Given the description of an element on the screen output the (x, y) to click on. 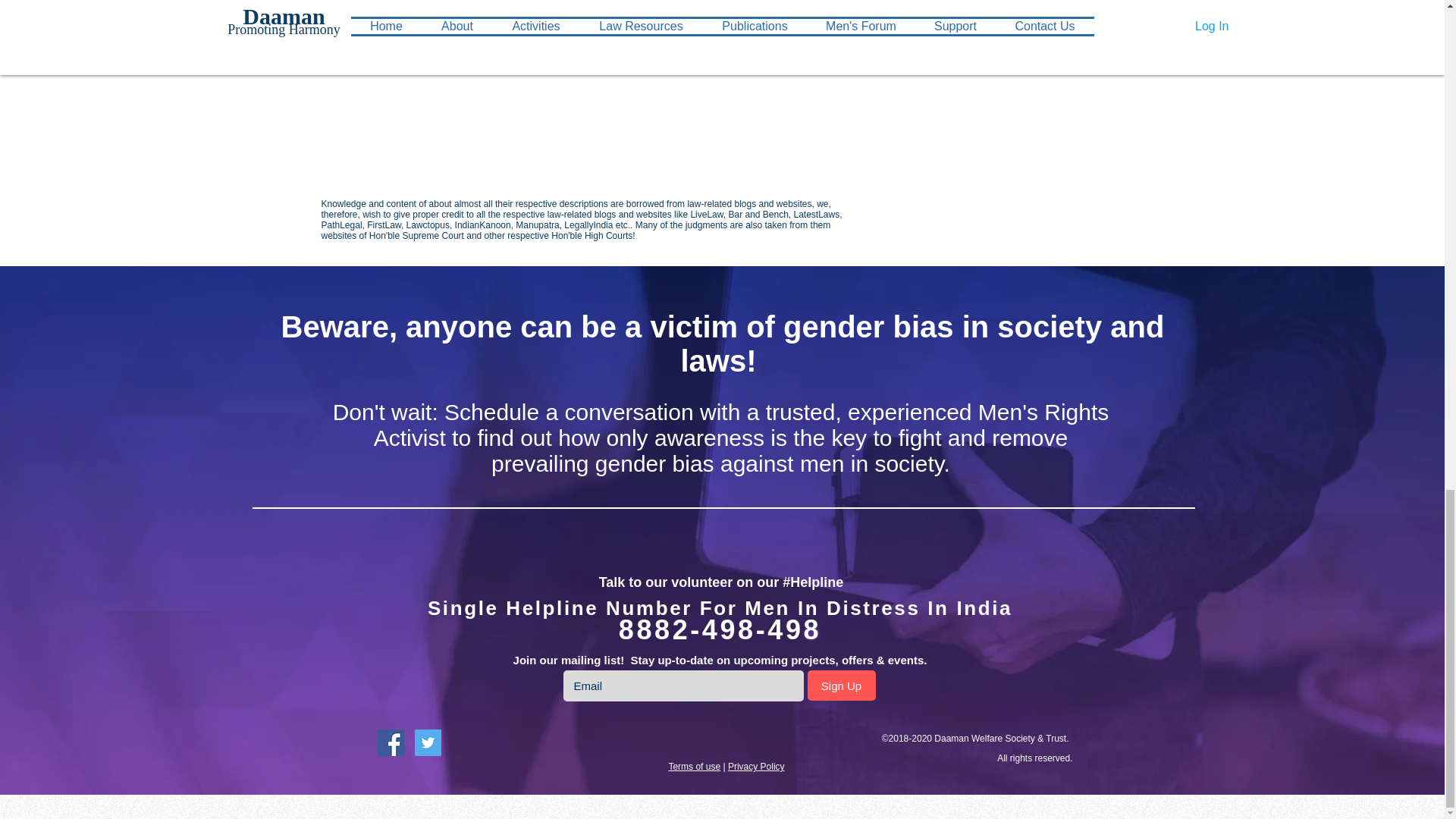
Sign Up (840, 685)
Privacy Policy (756, 766)
Terms of use (694, 766)
